Given the description of an element on the screen output the (x, y) to click on. 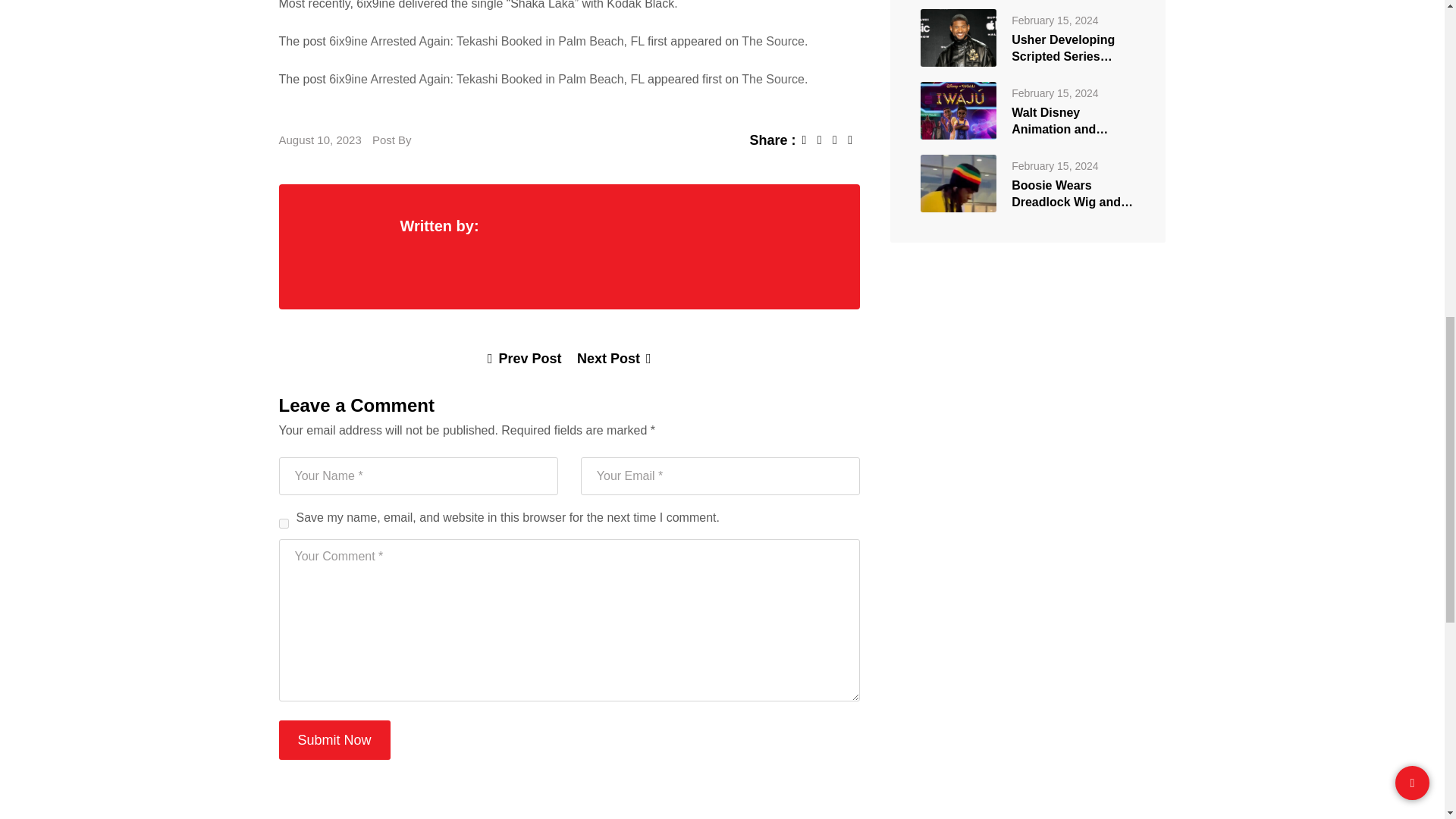
LinkedIn (839, 139)
The Source (773, 78)
Boosie Wears Dreadlock Wig and Rasta Hat to Bob Marley Movie (957, 182)
6ix9ine Arrested Again: Tekashi Booked in Palm Beach, FL (486, 78)
Next Post (613, 358)
Share via Email (853, 139)
The Source (773, 41)
Prev Post (524, 358)
6ix9ine Arrested Again: Tekashi Booked in Palm Beach, FL (486, 41)
Submit Now (334, 740)
